Given the description of an element on the screen output the (x, y) to click on. 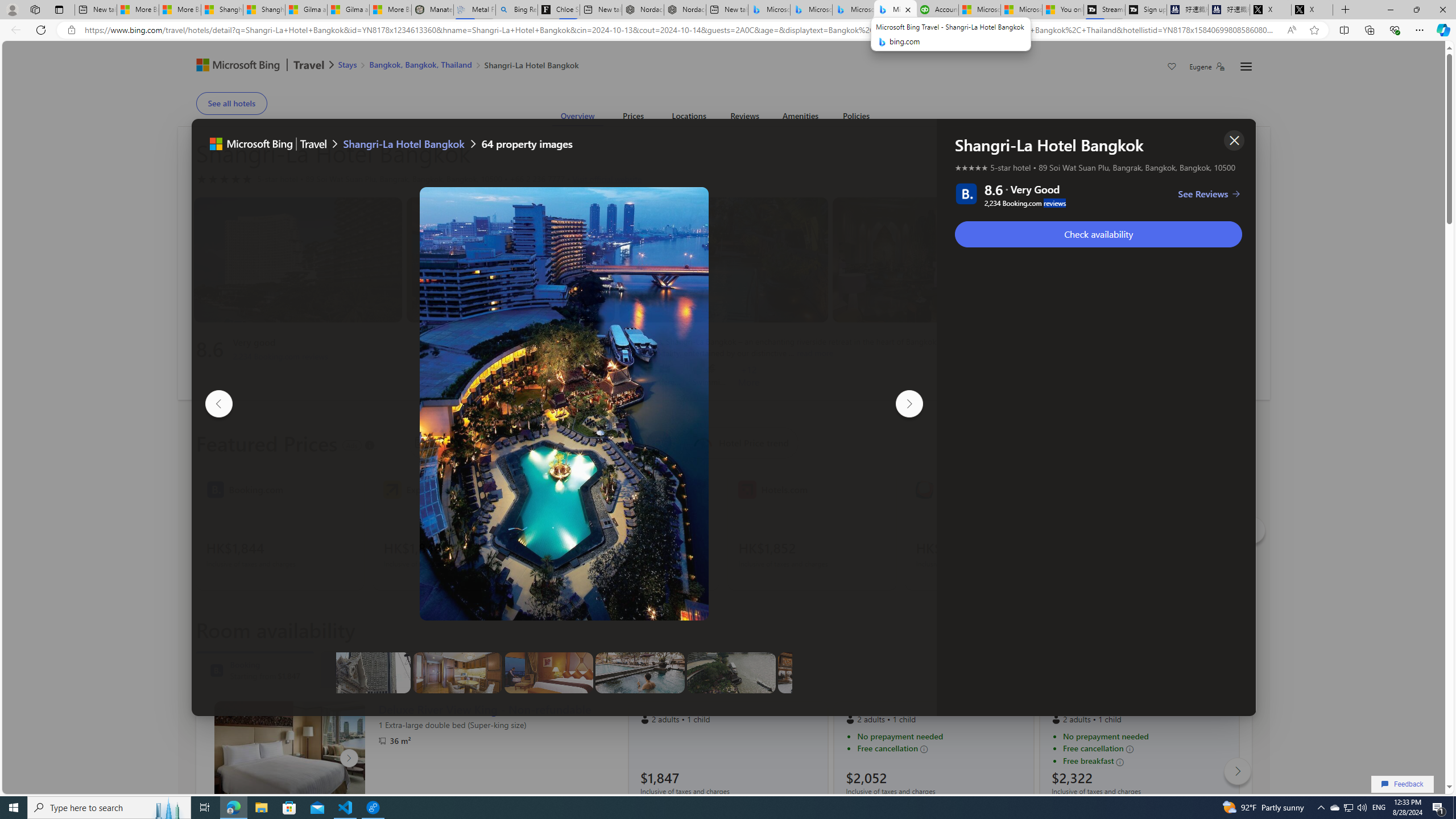
Accounting Software for Accountants, CPAs and Bookkeepers (937, 9)
